Given the description of an element on the screen output the (x, y) to click on. 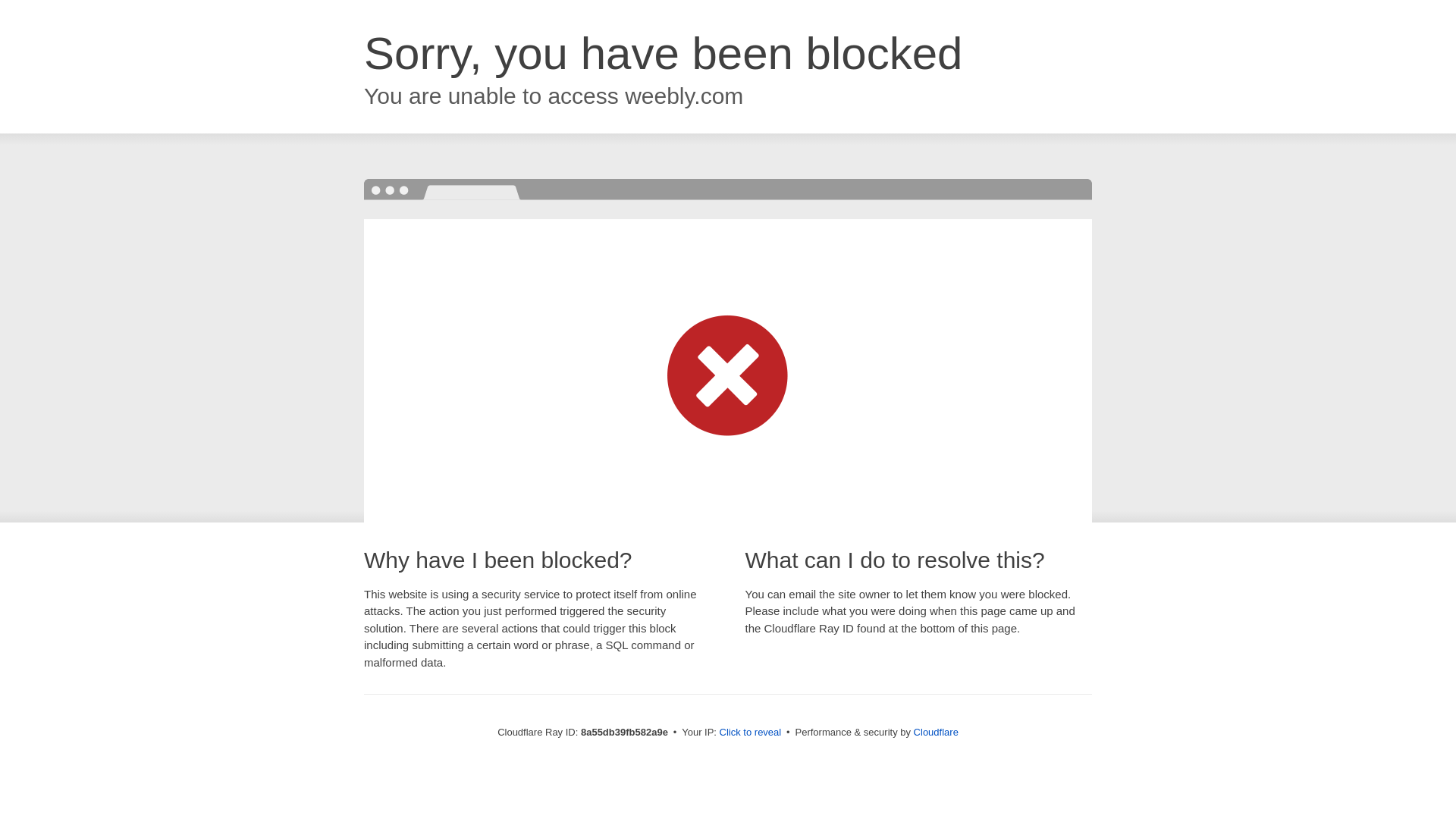
Cloudflare (936, 731)
Click to reveal (750, 732)
